Given the description of an element on the screen output the (x, y) to click on. 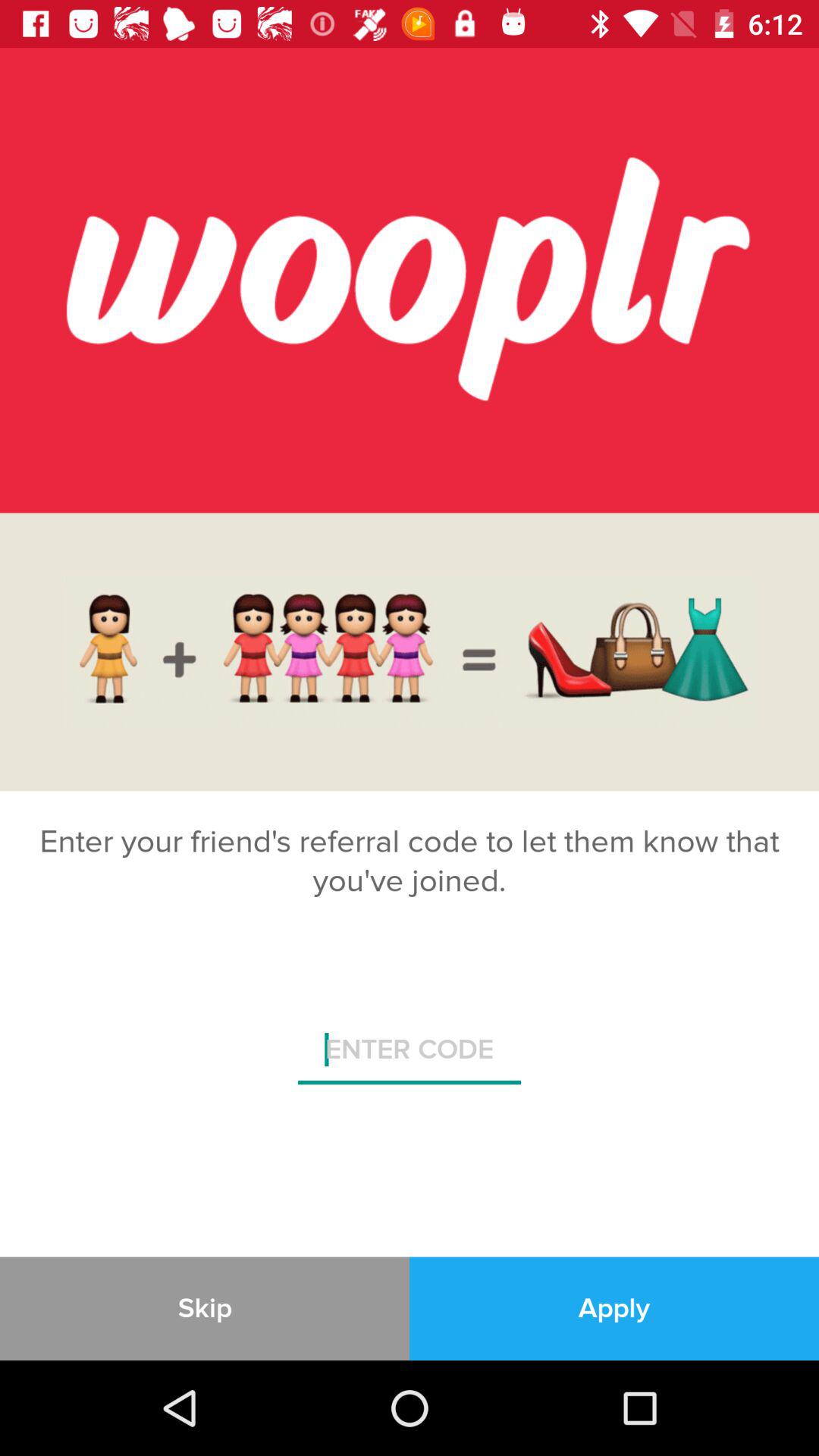
tap the icon below the enter your friend item (409, 1055)
